Given the description of an element on the screen output the (x, y) to click on. 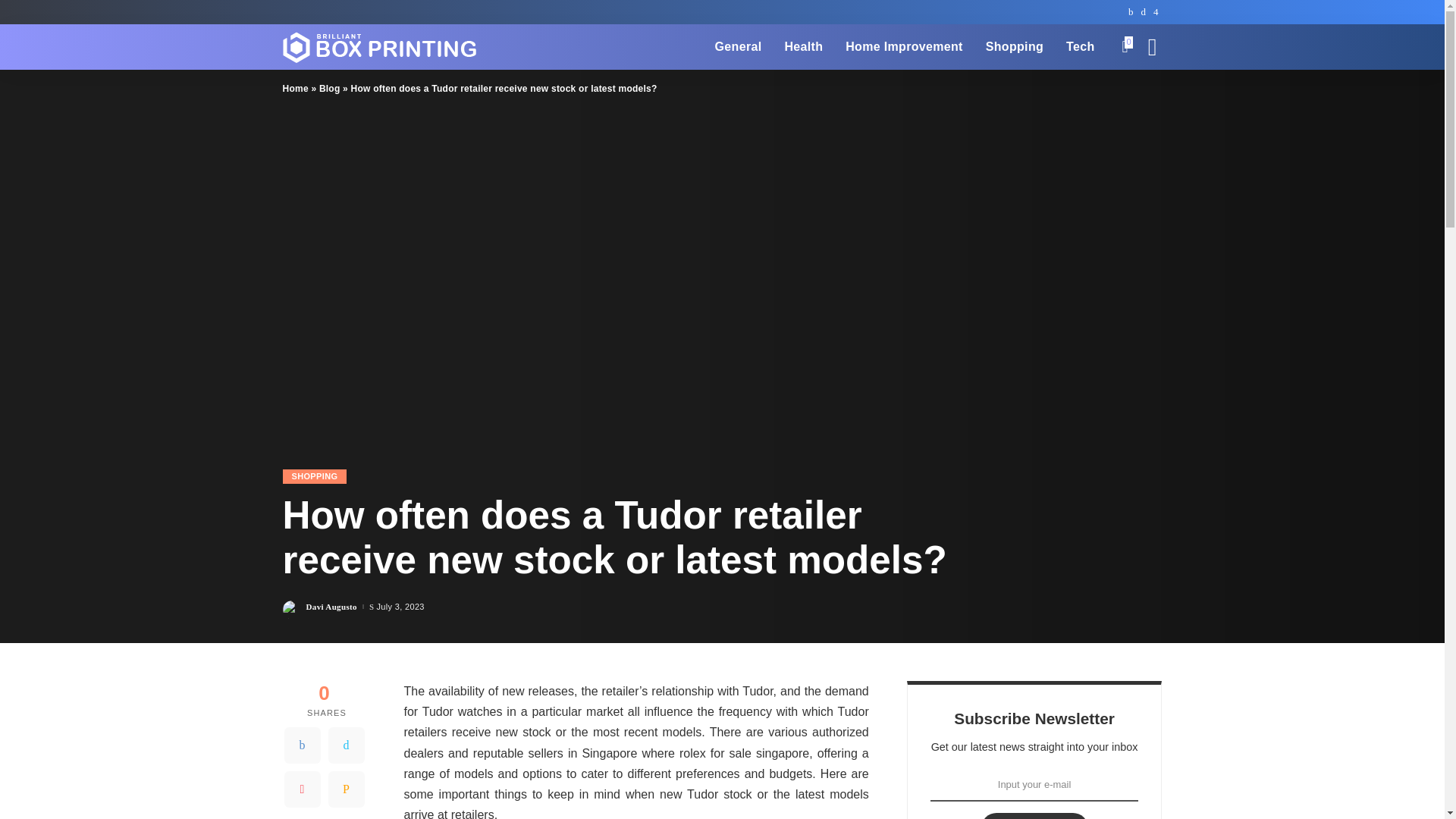
Brilliant Box Printing (379, 47)
Health (803, 46)
Search (1140, 89)
Tech (1079, 46)
General (738, 46)
Home Improvement (904, 46)
Search (1140, 5)
Shopping (1014, 46)
